Given the description of an element on the screen output the (x, y) to click on. 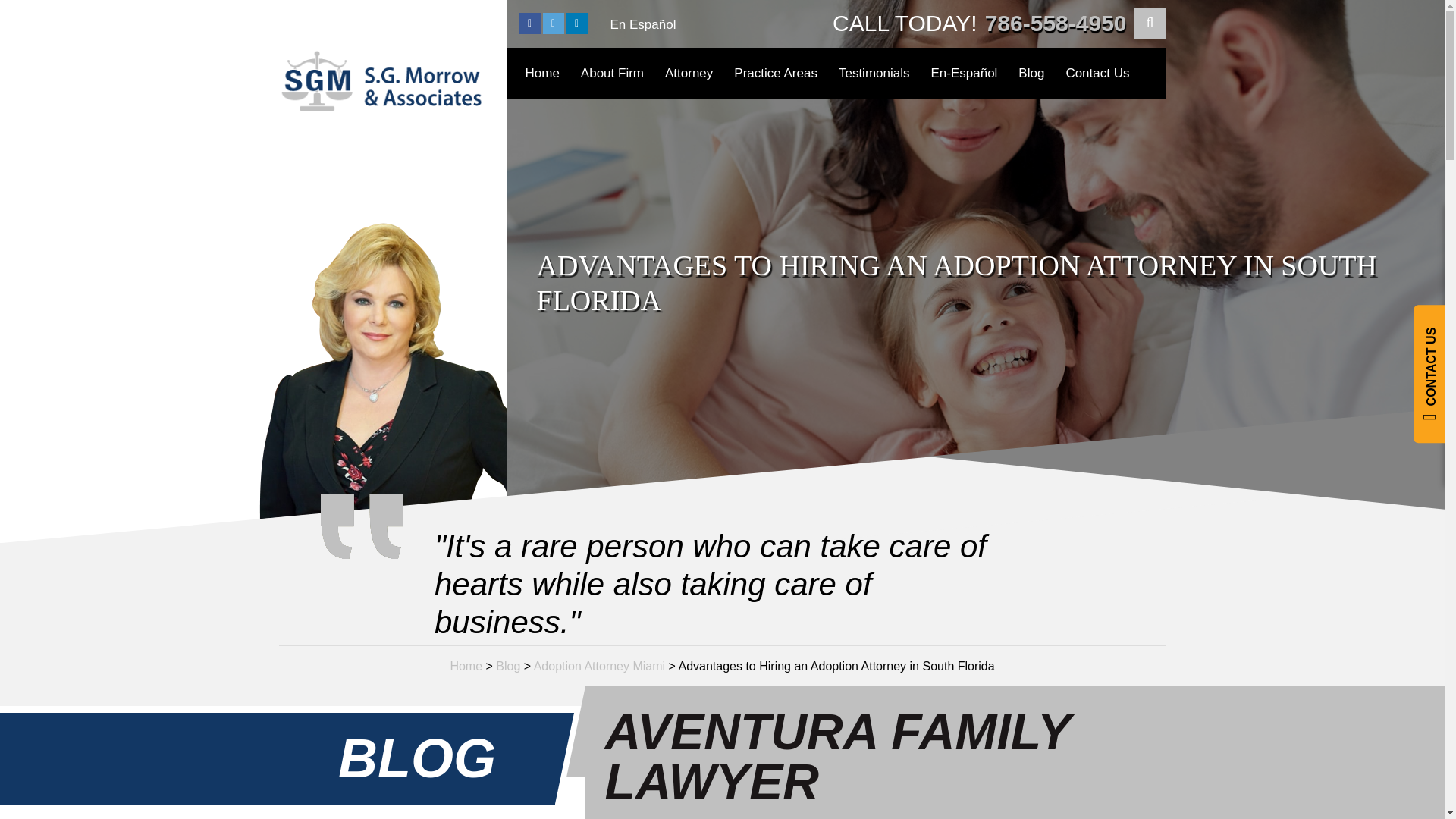
Home (541, 73)
786-558-4950 (1055, 23)
Blog (507, 666)
Testimonials (874, 73)
Blog (1030, 73)
About Firm (611, 73)
Linkedin (576, 23)
Contact Us (1097, 73)
Adoption Attorney Miami (599, 666)
786-558-4950 (1055, 23)
